Given the description of an element on the screen output the (x, y) to click on. 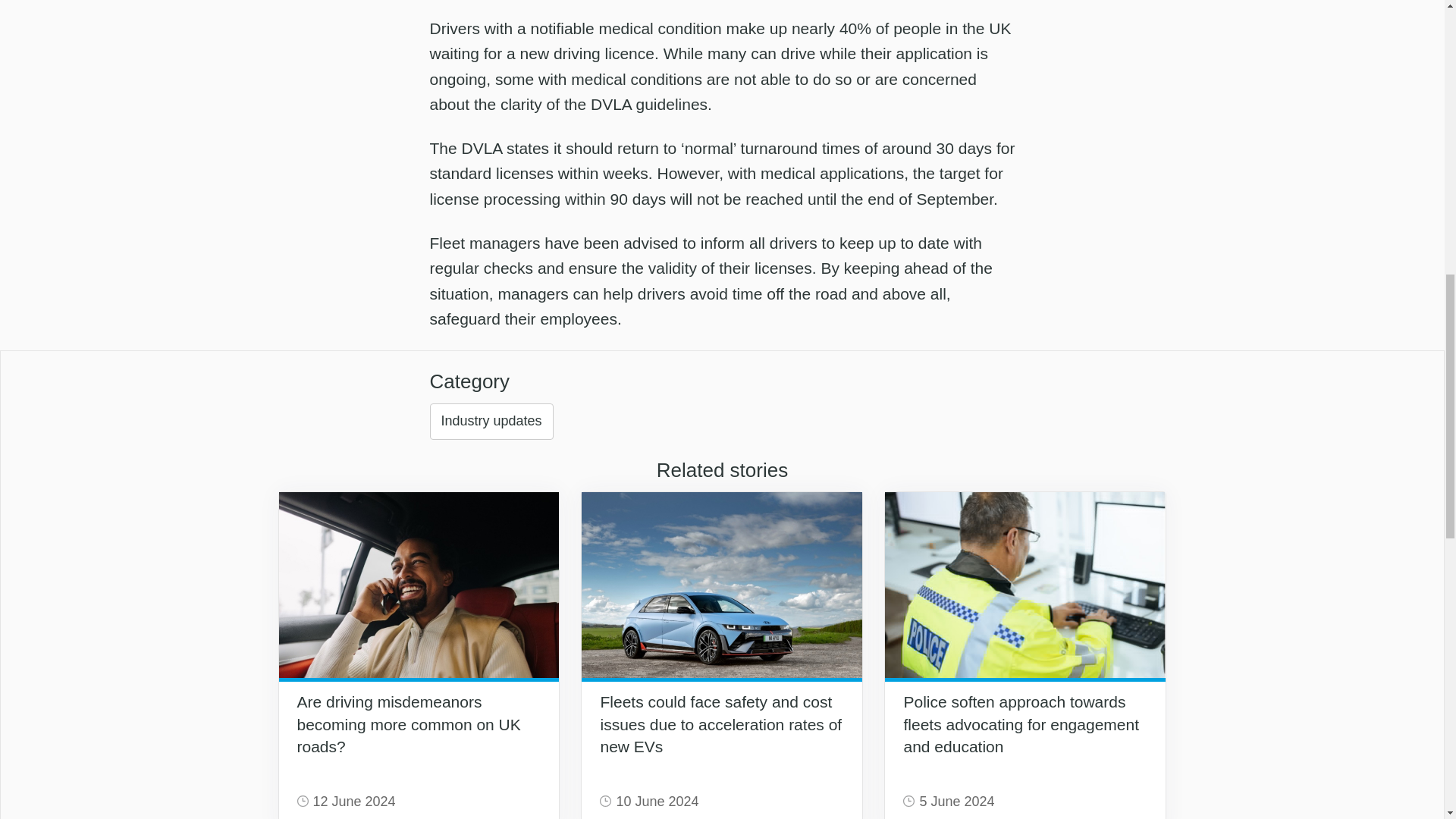
Industry updates (491, 421)
